Given the description of an element on the screen output the (x, y) to click on. 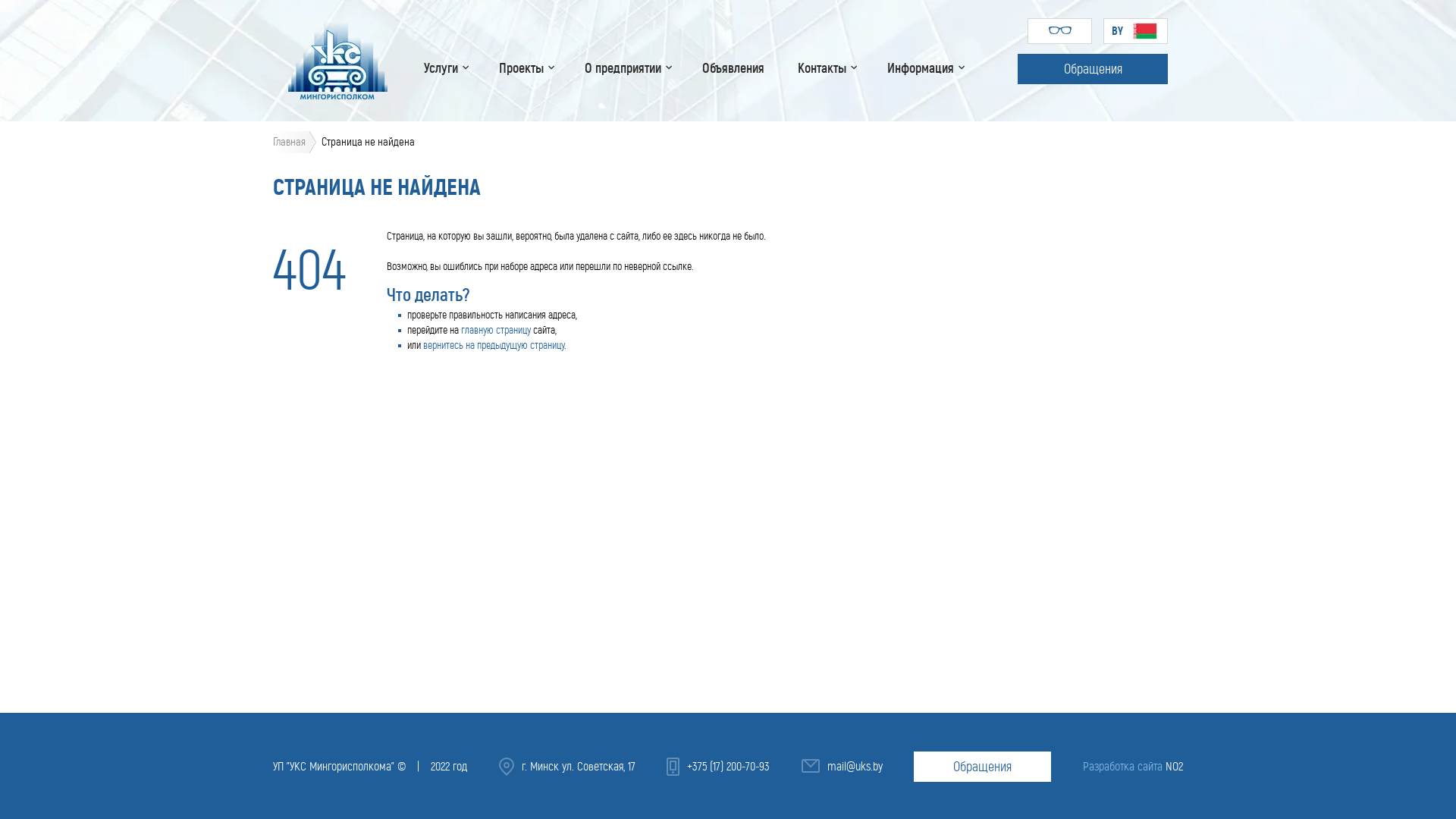
404 Element type: text (309, 269)
NO2 Element type: text (1174, 766)
BY Element type: text (1135, 30)
